Given the description of an element on the screen output the (x, y) to click on. 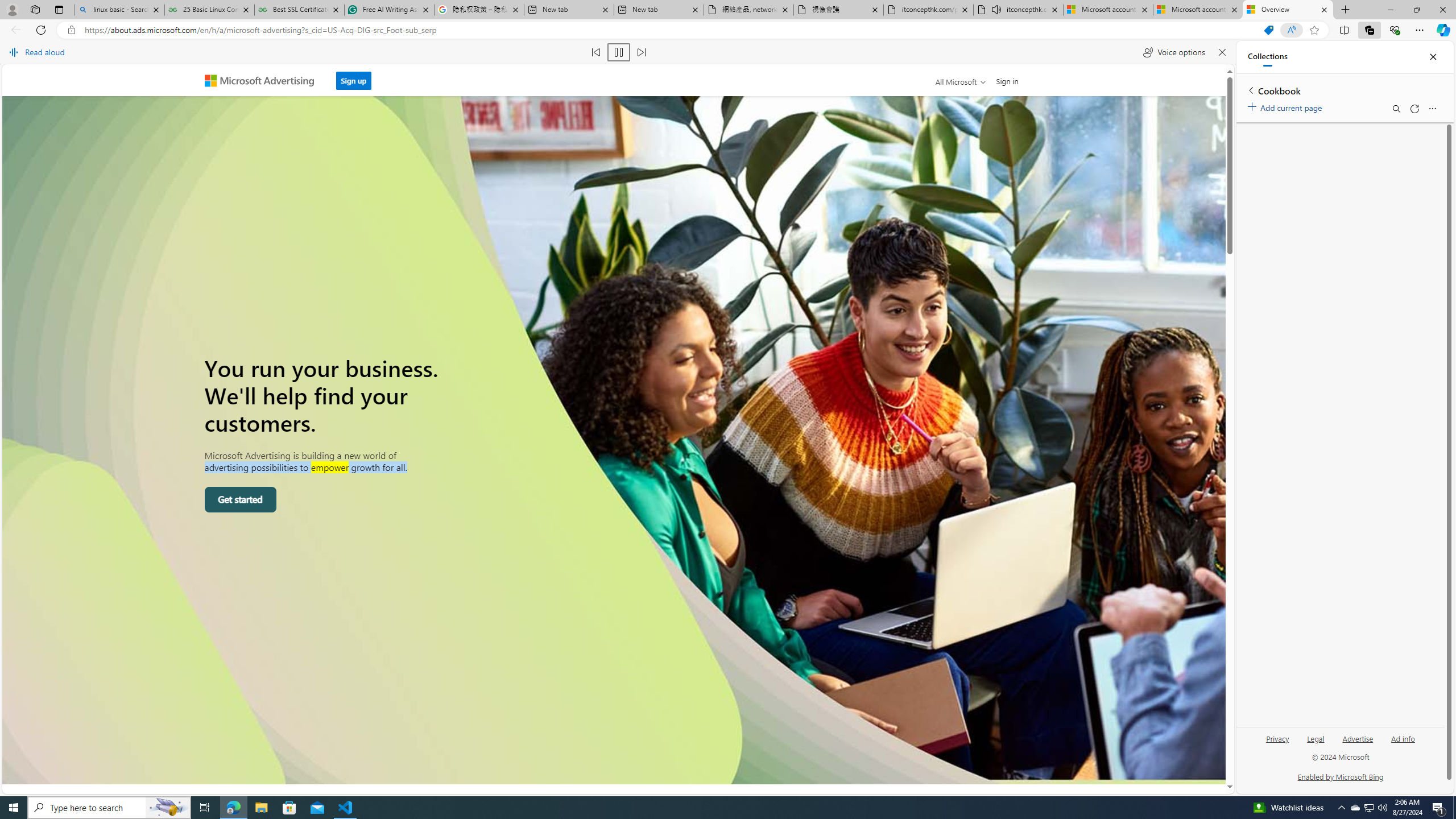
itconcepthk.com/projector_solutions.mp4 - Audio playing (1018, 9)
Sign up (353, 76)
Read next paragraph (641, 52)
Add current page (1286, 105)
itconcepthk.com/projector_solutions.mp4 (928, 9)
linux basic - Search (118, 9)
